Given the description of an element on the screen output the (x, y) to click on. 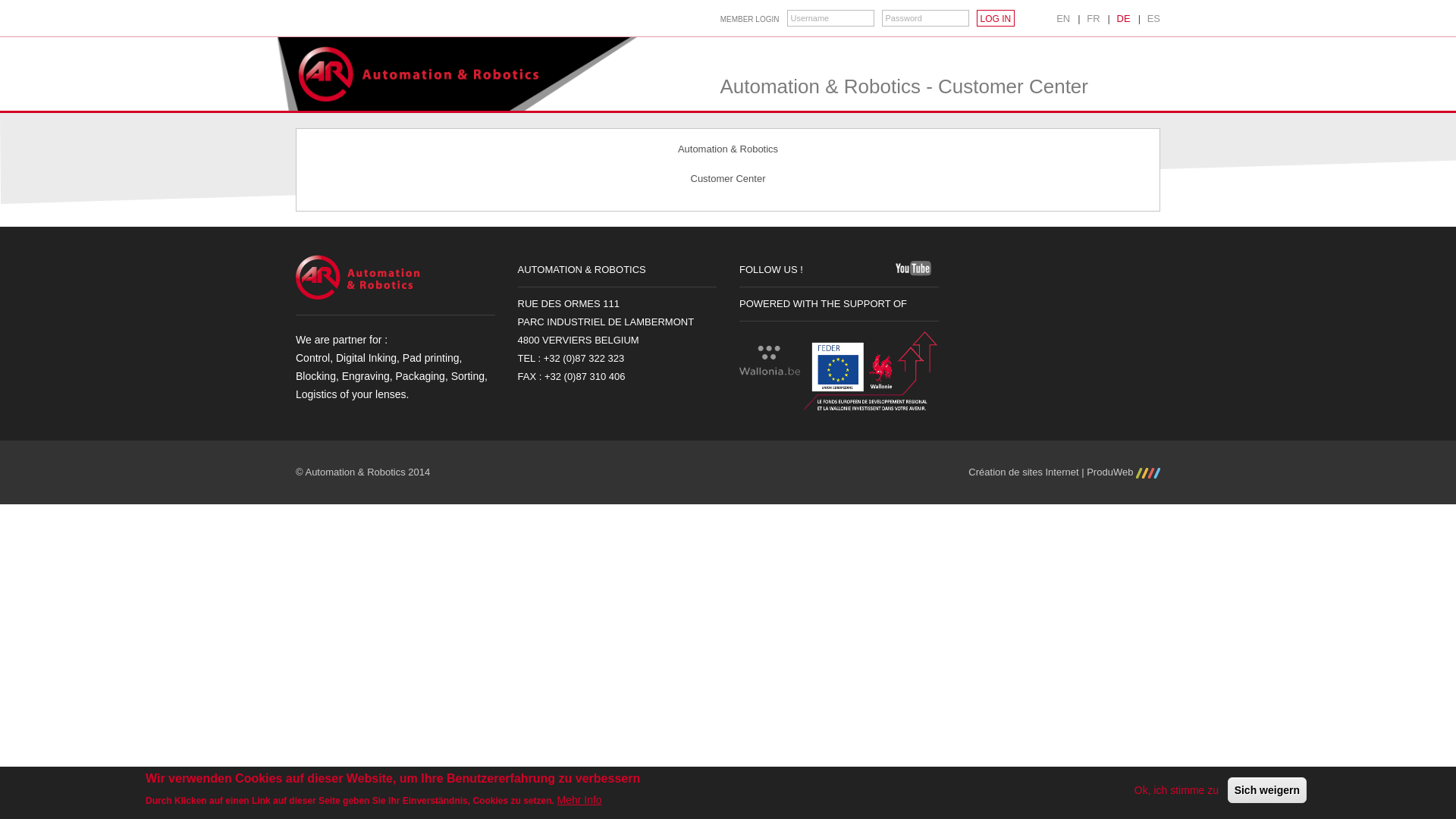
Ok, ich stimme zu Element type: text (1176, 790)
ES Element type: text (1153, 18)
DE Element type: text (1123, 18)
  Element type: text (852, 268)
Log in Element type: text (995, 17)
Sich weigern Element type: text (1266, 790)
FR Element type: text (1092, 18)
EN Element type: text (1063, 18)
Skip to main content Element type: text (44, 0)
Mehr Info Element type: text (578, 799)
  Element type: text (912, 268)
